Given the description of an element on the screen output the (x, y) to click on. 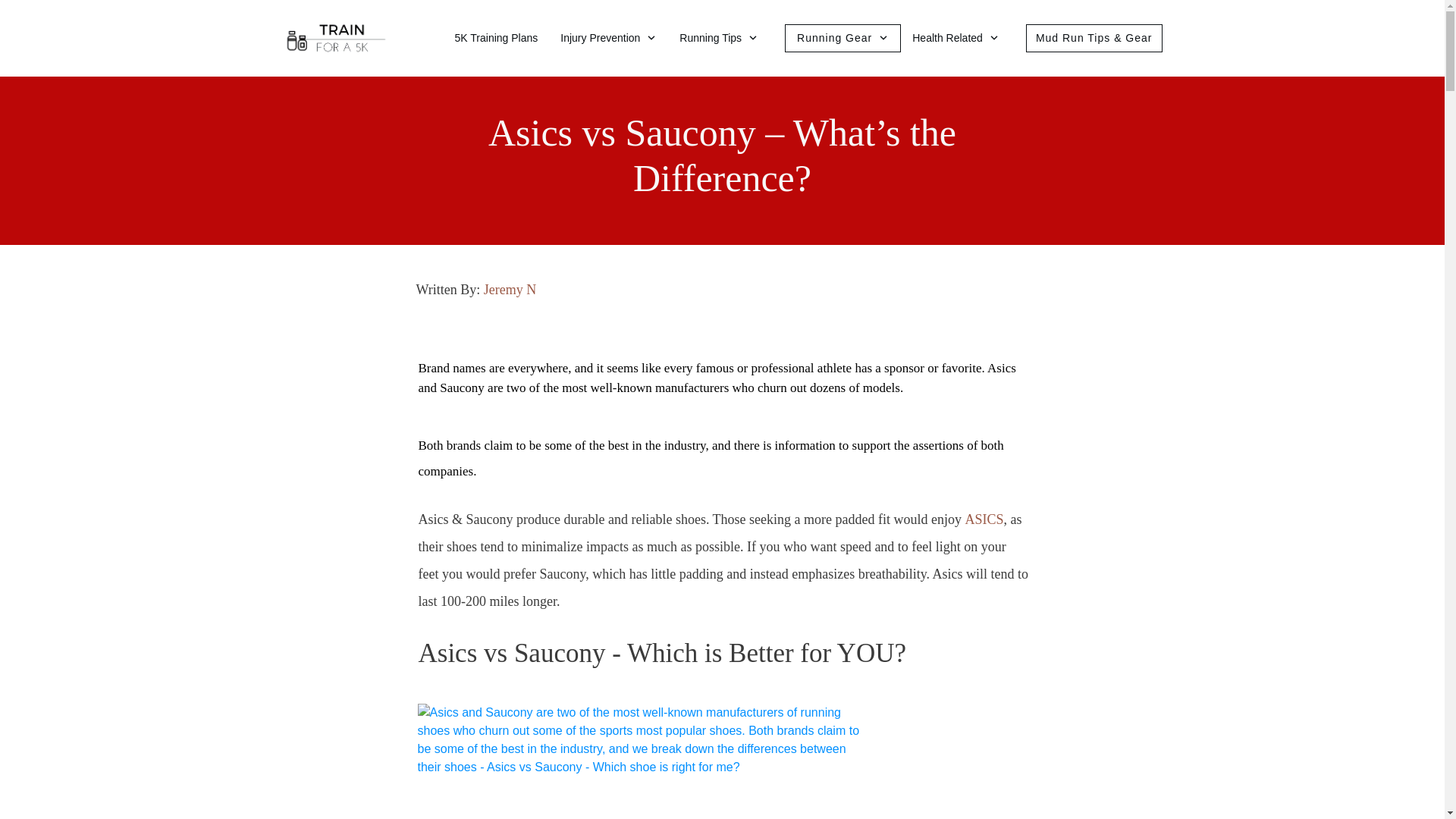
Injury Prevention (608, 37)
Health Related (955, 37)
5K Training Plans (496, 37)
Running Gear (842, 37)
Running Tips (718, 37)
ASICS (983, 519)
Jeremy N (509, 289)
Asics vs Saucony (637, 761)
